Given the description of an element on the screen output the (x, y) to click on. 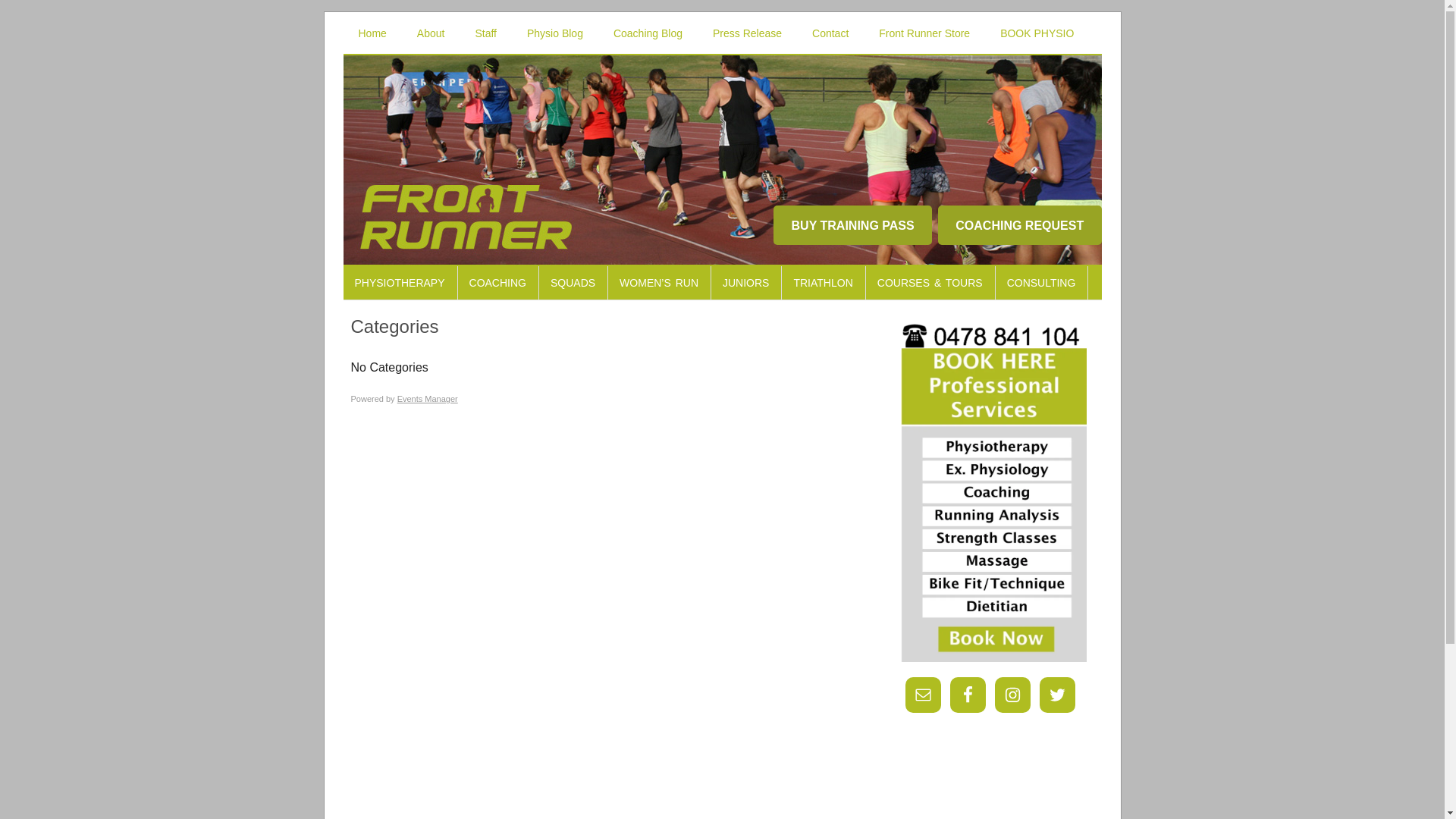
PHYSIOTHERAPY Element type: text (399, 282)
Front Runner Sports Element type: text (721, 129)
Contact Element type: text (830, 32)
Staff Element type: text (485, 32)
CONSULTING Element type: text (1041, 282)
SQUADS Element type: text (573, 282)
COACHING Element type: text (498, 282)
Home Element type: text (371, 32)
TRIATHLON Element type: text (823, 282)
Physio Blog Element type: text (554, 32)
BUY TRAINING PASS Element type: text (852, 224)
About Element type: text (430, 32)
Press Release Element type: text (747, 32)
JUNIORS Element type: text (746, 282)
Front Runner Store Element type: text (924, 32)
Coaching Blog Element type: text (647, 32)
COACHING REQUEST Element type: text (1019, 224)
Events Manager Element type: text (427, 398)
BOOK PHYSIO Element type: text (1036, 32)
COURSES & TOURS Element type: text (930, 282)
